Given the description of an element on the screen output the (x, y) to click on. 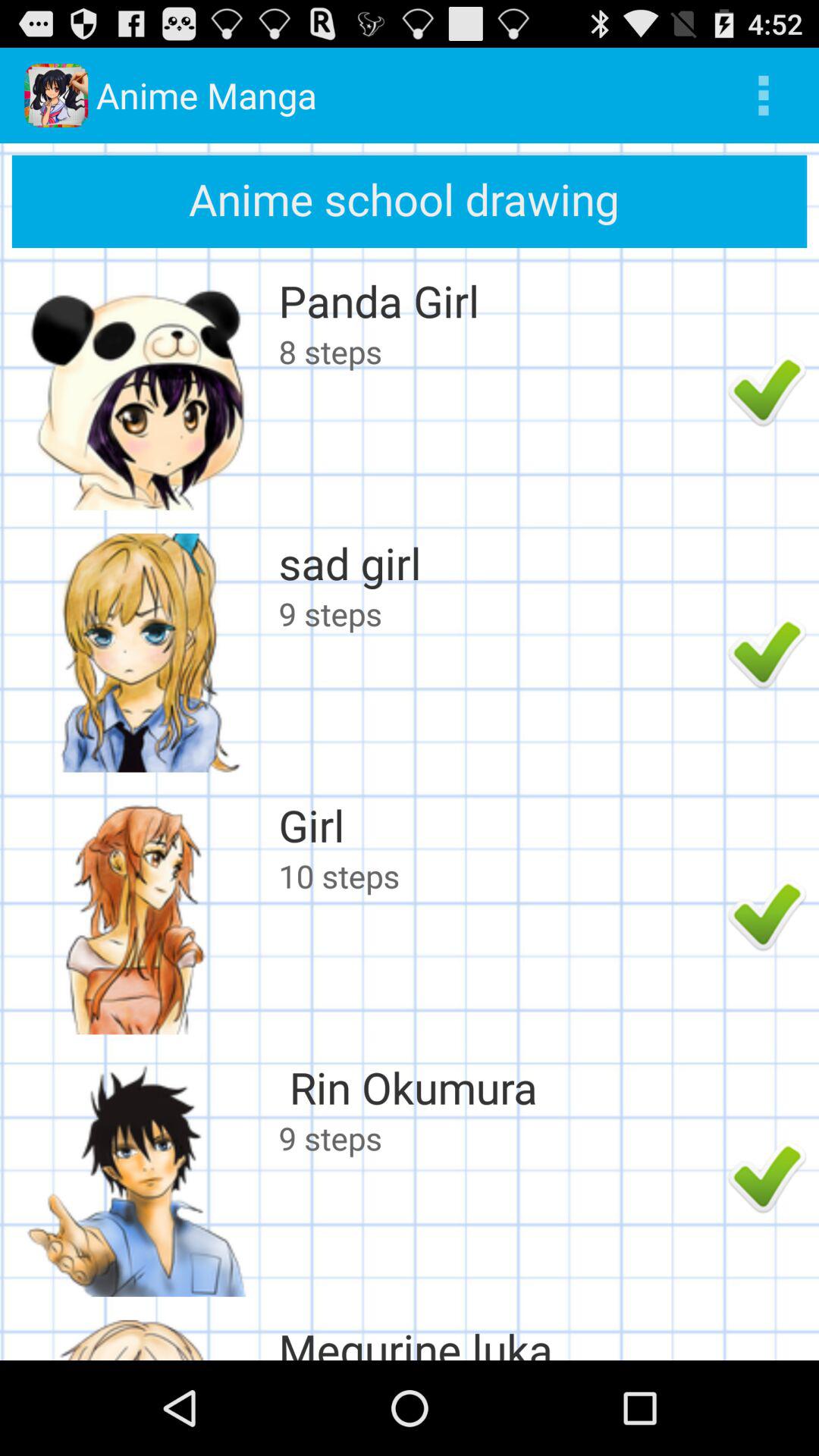
turn on the item below the anime school drawing  item (498, 300)
